Given the description of an element on the screen output the (x, y) to click on. 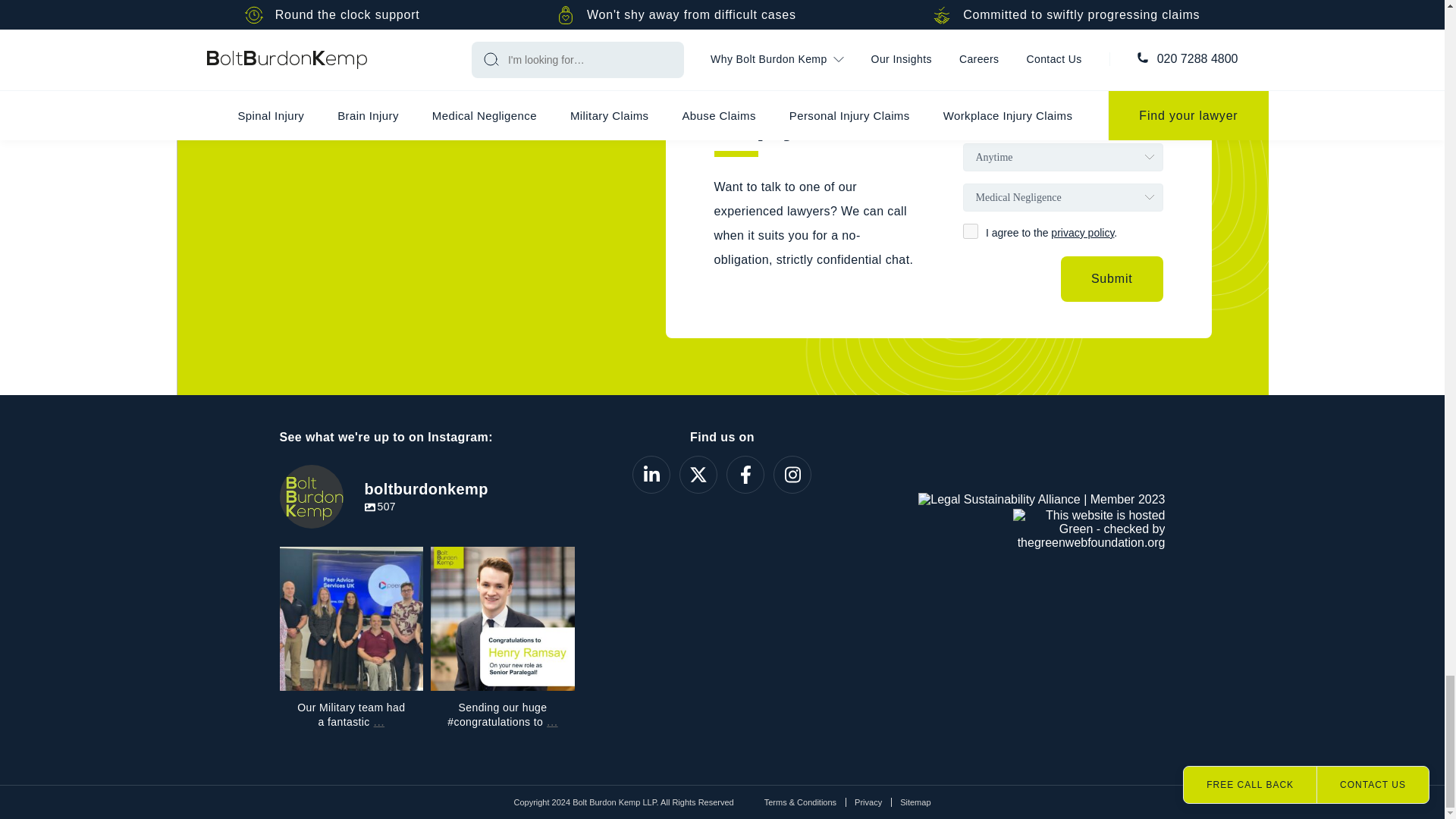
United Kingdom (992, 116)
Submit (1112, 279)
1 (970, 231)
